Given the description of an element on the screen output the (x, y) to click on. 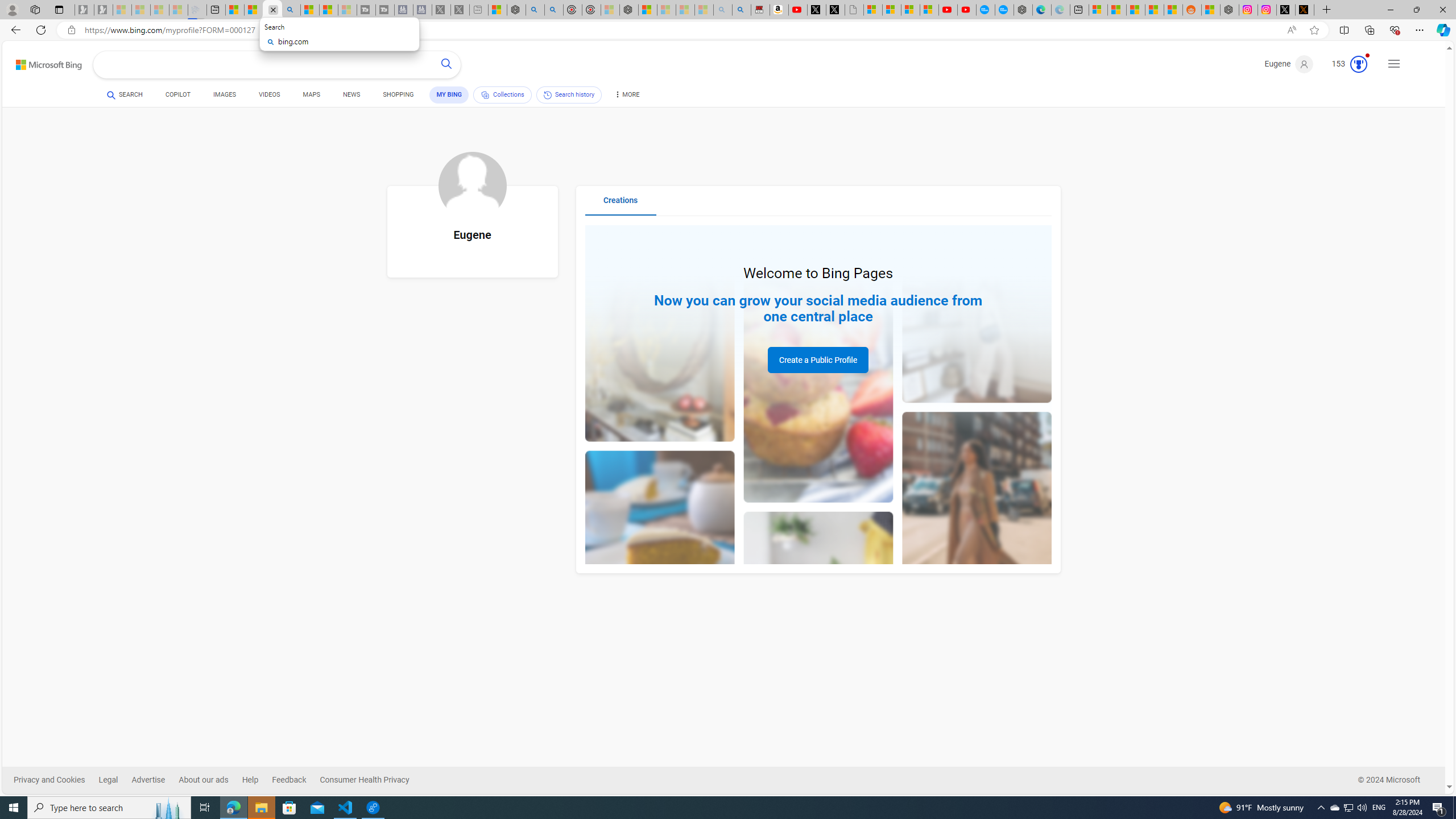
COPILOT (178, 94)
amazon - Search - Sleeping (722, 9)
SHOPPING (397, 94)
SEARCH (124, 94)
MY BING (448, 94)
Advertise (148, 779)
Nordace - Nordace Siena Is Not An Ordinary Backpack (628, 9)
Untitled (853, 9)
